Given the description of an element on the screen output the (x, y) to click on. 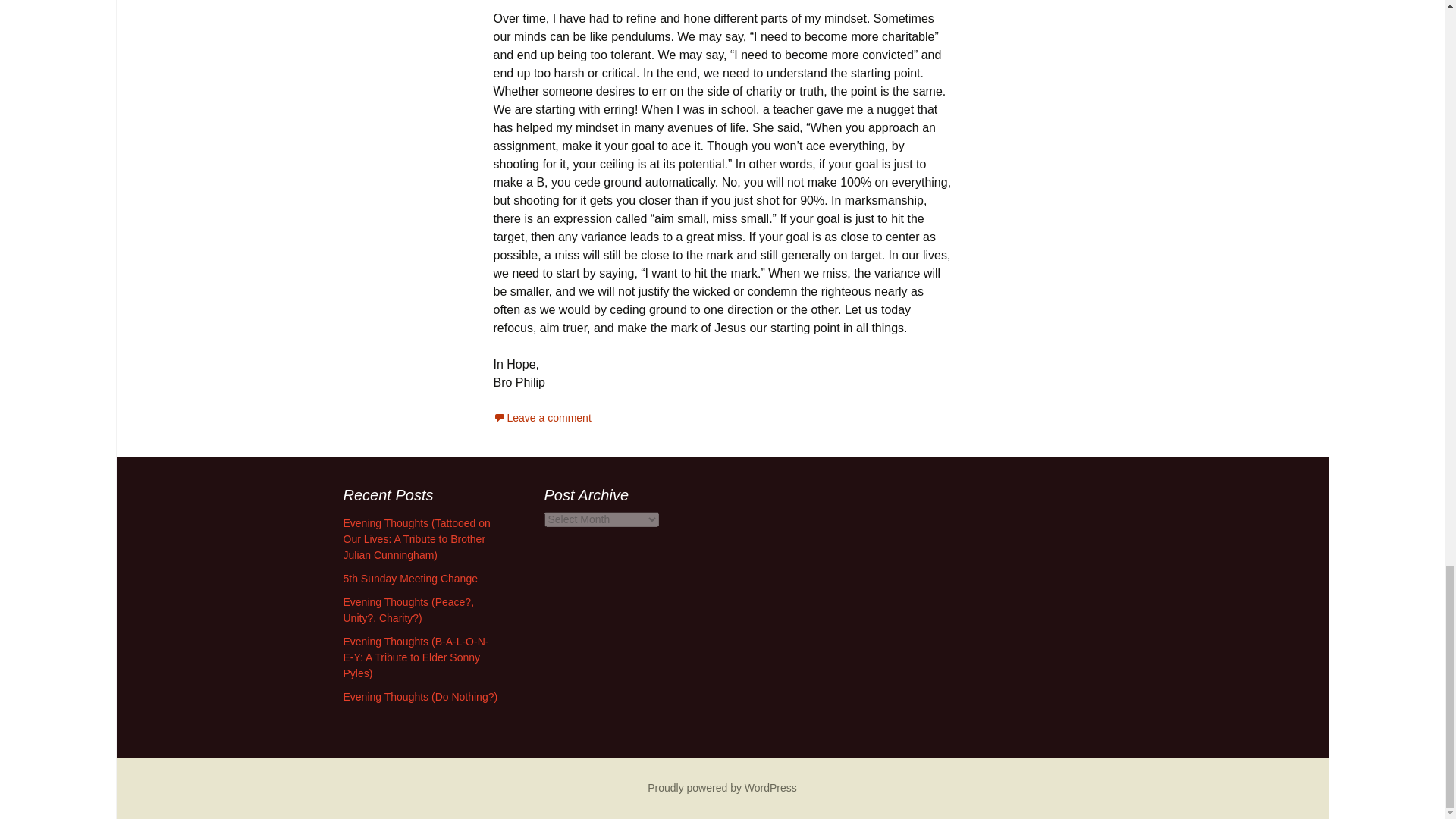
Proudly powered by WordPress (721, 787)
Leave a comment (542, 417)
5th Sunday Meeting Change (409, 578)
